Given the description of an element on the screen output the (x, y) to click on. 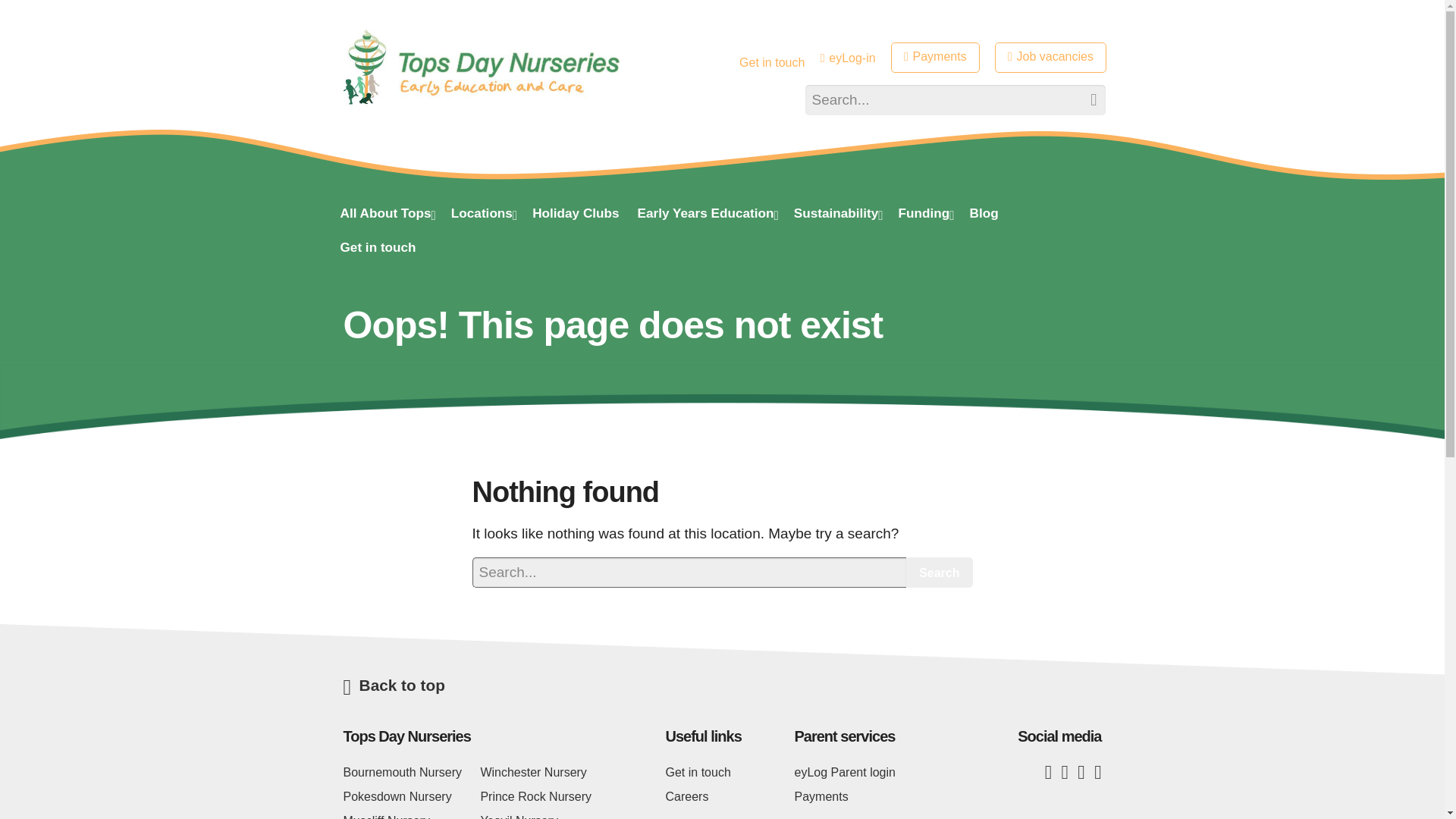
Get in touch (772, 62)
Search (938, 572)
Search (938, 572)
eyLog-in (848, 57)
All About Tops (385, 214)
Search (1085, 100)
Job vacancies (1050, 57)
Locations (482, 214)
Payments (935, 57)
Search (1085, 100)
Search (1085, 100)
